Given the description of an element on the screen output the (x, y) to click on. 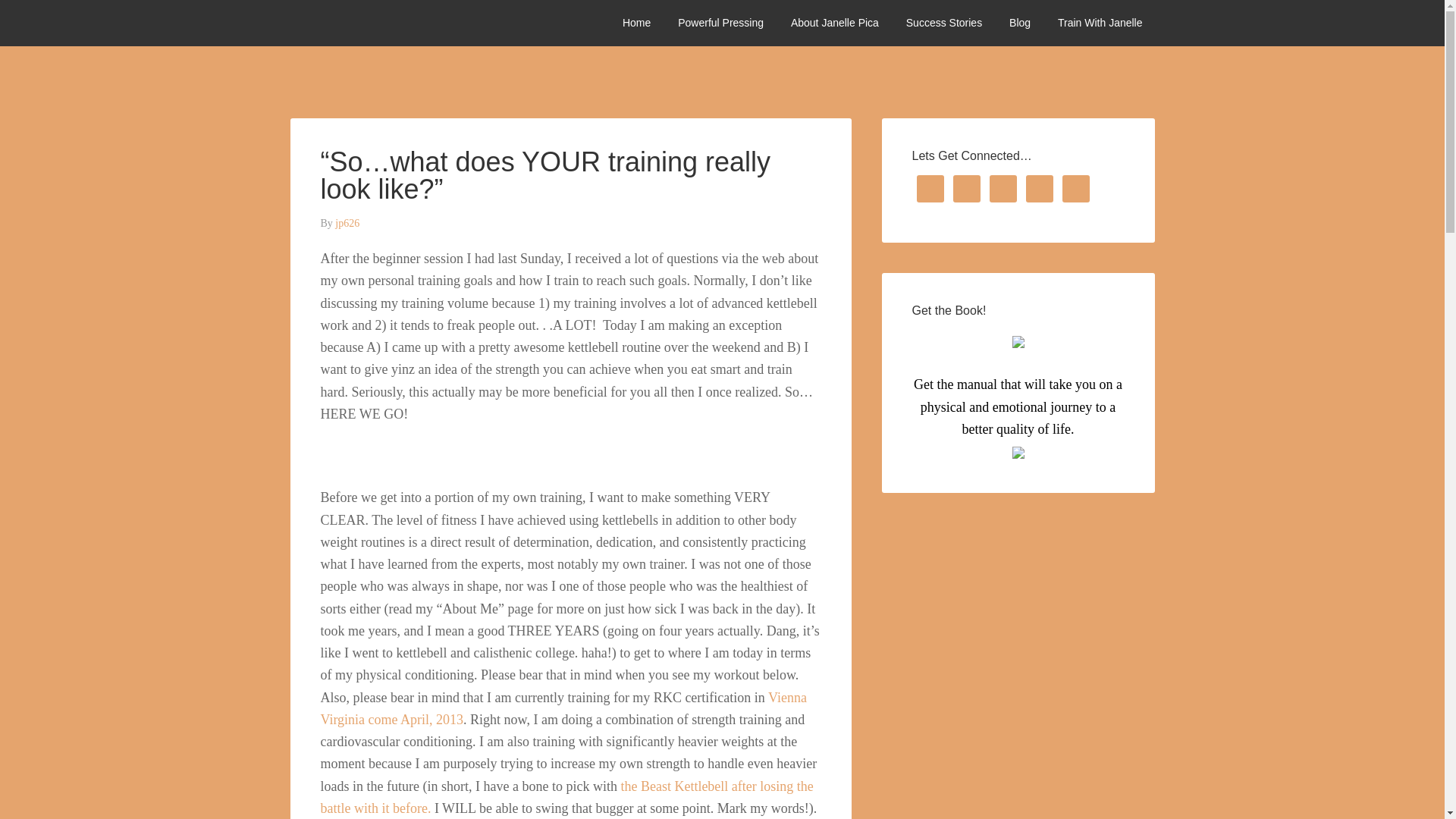
JANELLE PICA (402, 22)
About Janelle Pica (834, 22)
the Beast Kettlebell after losing the battle with it before. (566, 796)
Success Stories (943, 22)
Powerful Pressing (720, 22)
Blog (1019, 22)
jp626 (346, 223)
Vienna Virginia come April, 2013 (563, 708)
Train With Janelle (1099, 22)
Home (636, 22)
